Given the description of an element on the screen output the (x, y) to click on. 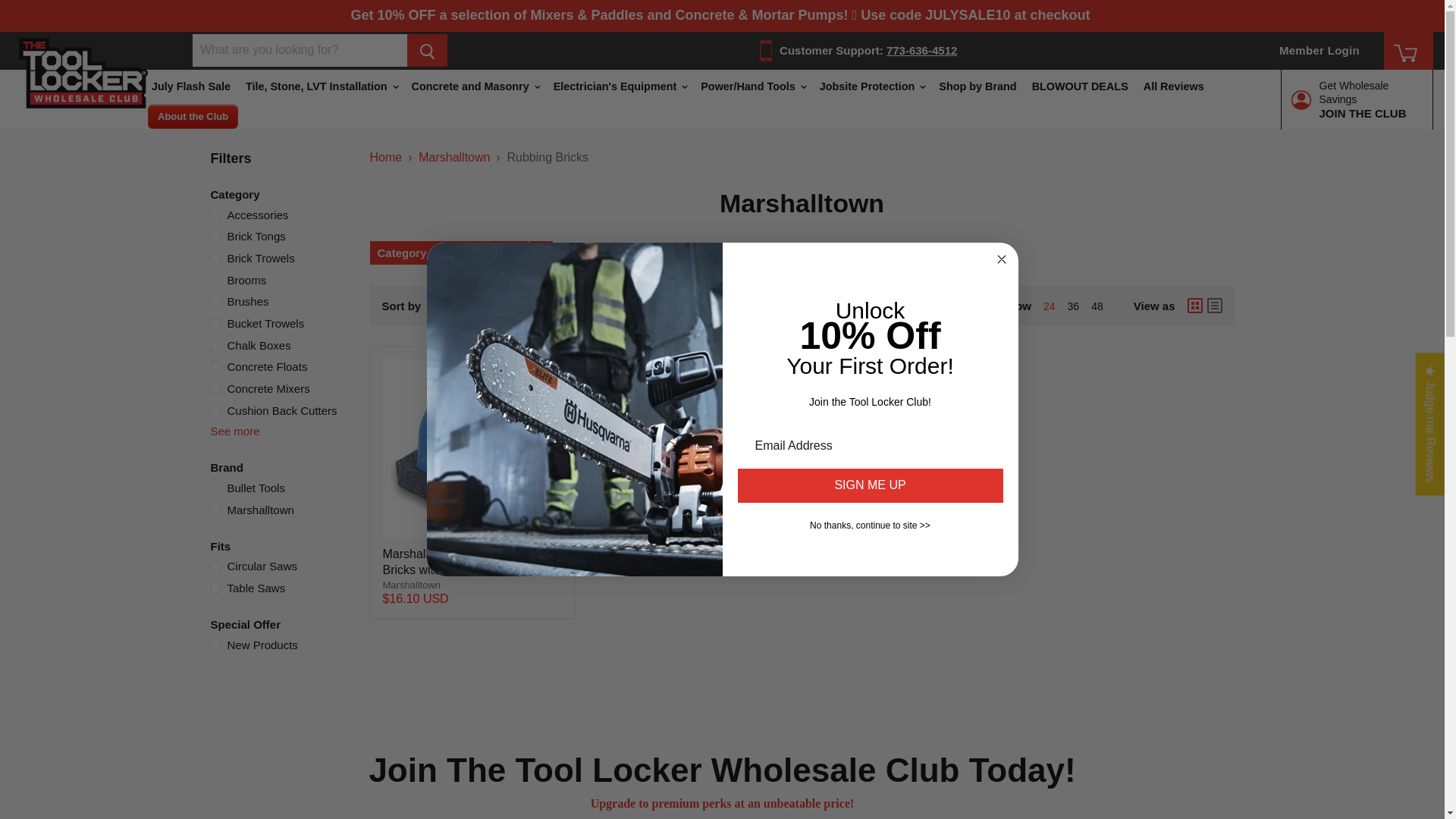
July Flash Sale (191, 86)
Concrete and Masonry (475, 86)
View cart (1406, 55)
Member Login (1318, 50)
773-636-4512 (921, 50)
Tile, Stone, LVT Installation (321, 86)
